Given the description of an element on the screen output the (x, y) to click on. 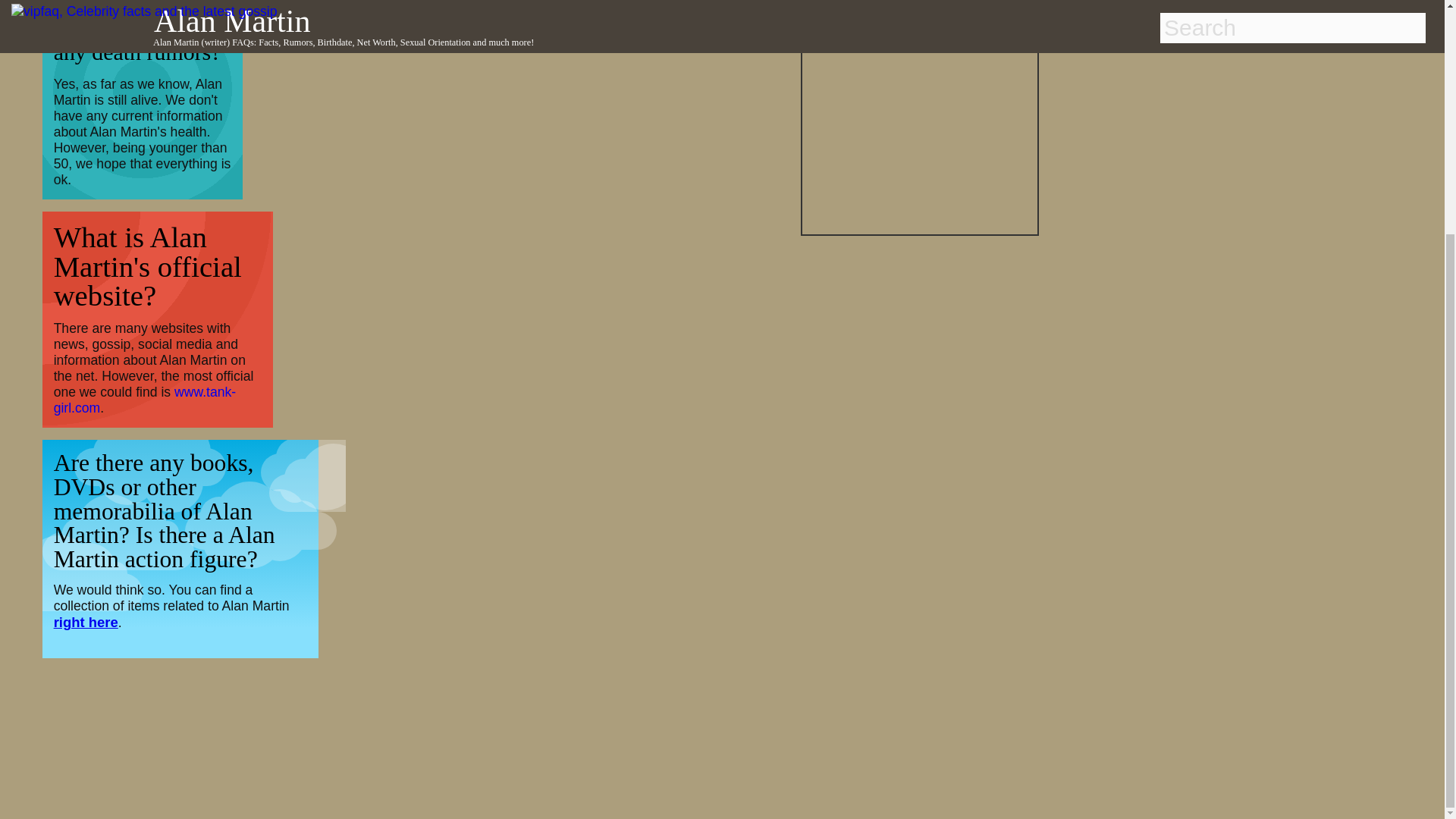
right here (85, 621)
www.tank-girl.com (144, 399)
